Given the description of an element on the screen output the (x, y) to click on. 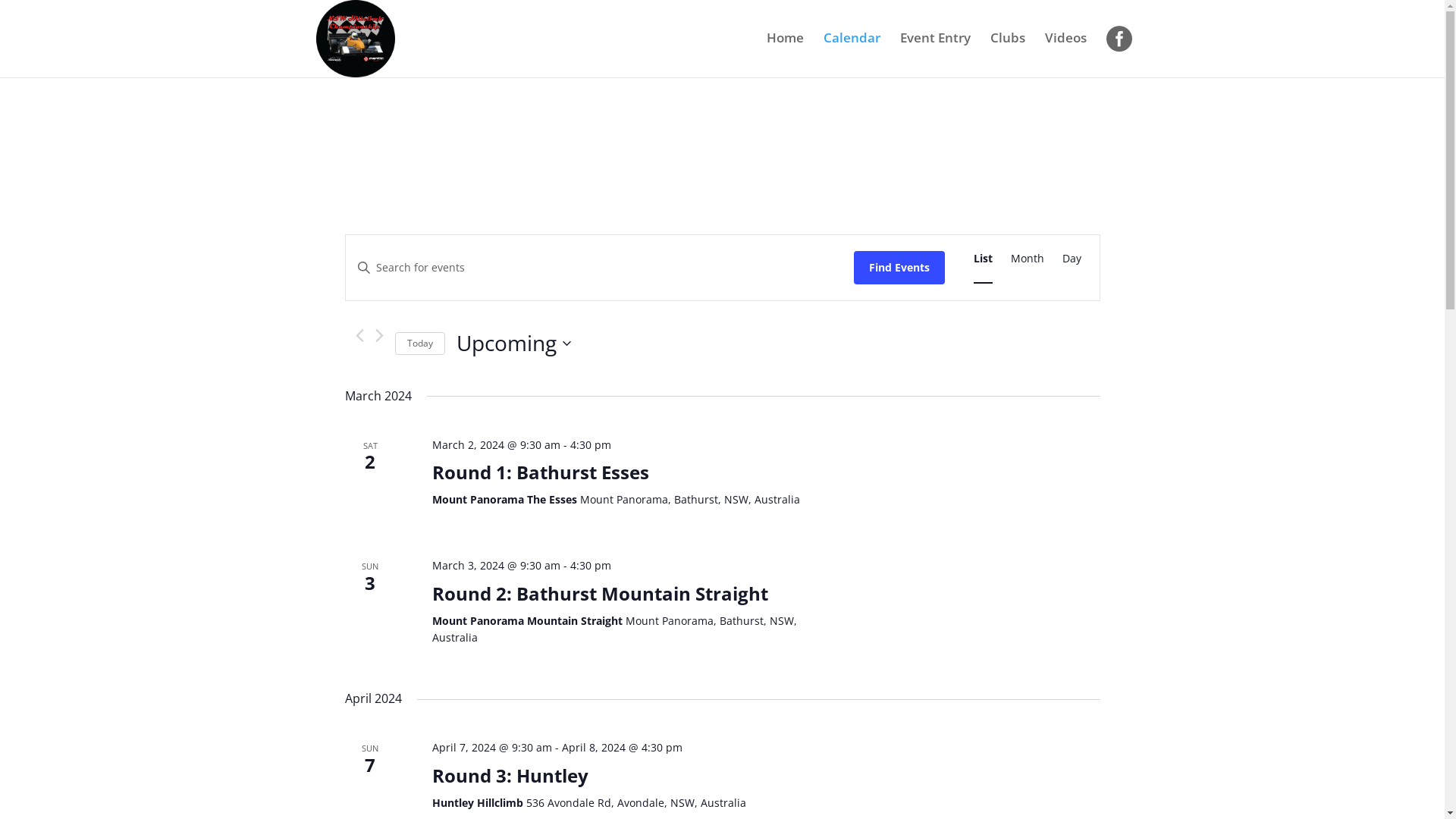
Month Element type: text (1026, 258)
Day Element type: text (1070, 258)
Clubs Element type: text (1007, 50)
Previous Events Element type: hover (358, 335)
Today Element type: text (419, 343)
Next Events Element type: hover (378, 335)
Round 2: Bathurst Mountain Straight Element type: text (600, 593)
Upcoming Element type: text (513, 343)
Videos Element type: text (1065, 50)
Find Events Element type: text (898, 267)
Round 3: Huntley Element type: text (510, 775)
List Element type: text (982, 258)
Home Element type: text (784, 50)
Calendar Element type: text (851, 50)
Event Entry Element type: text (934, 50)
Round 1: Bathurst Esses Element type: text (540, 472)
